Given the description of an element on the screen output the (x, y) to click on. 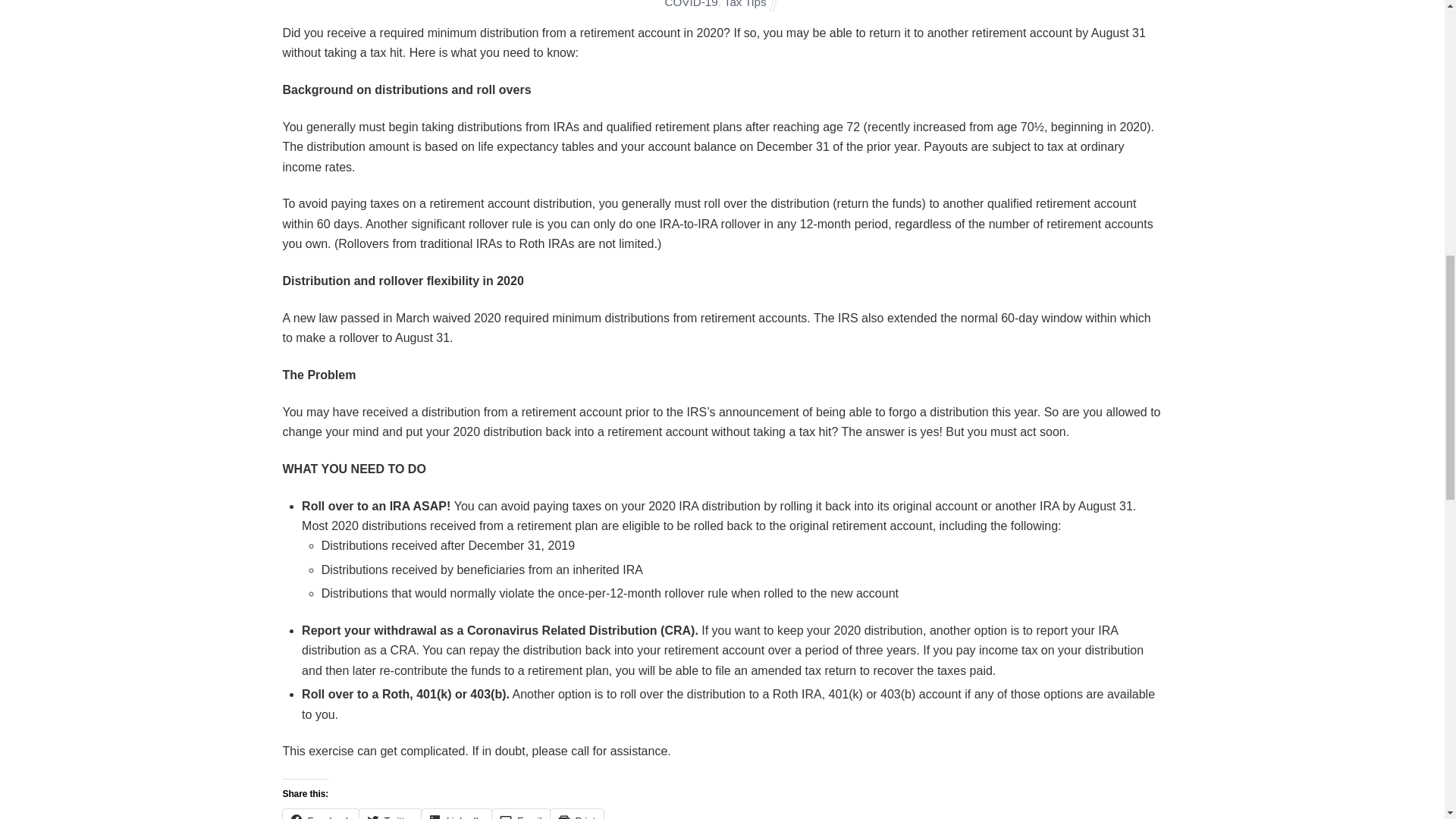
Print (577, 814)
Twitter (390, 814)
Click to email a link to a friend (521, 814)
Click to print (577, 814)
Tax Tips (745, 4)
Click to share on LinkedIn (457, 814)
Facebook (320, 814)
COVID-19 (691, 4)
Email (521, 814)
LinkedIn (457, 814)
